Given the description of an element on the screen output the (x, y) to click on. 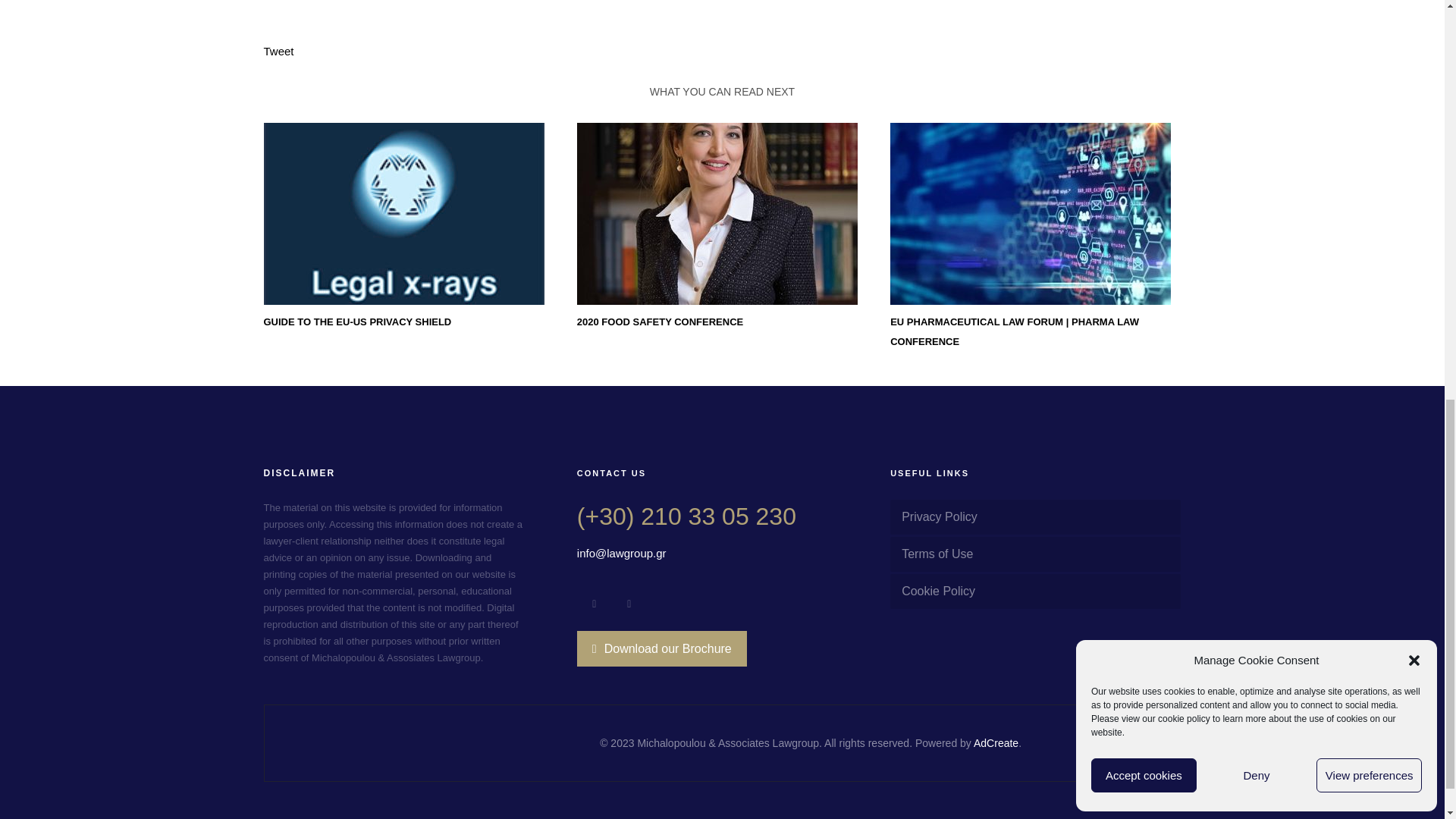
michalopoulou (716, 213)
Lxray-post (403, 213)
